Given the description of an element on the screen output the (x, y) to click on. 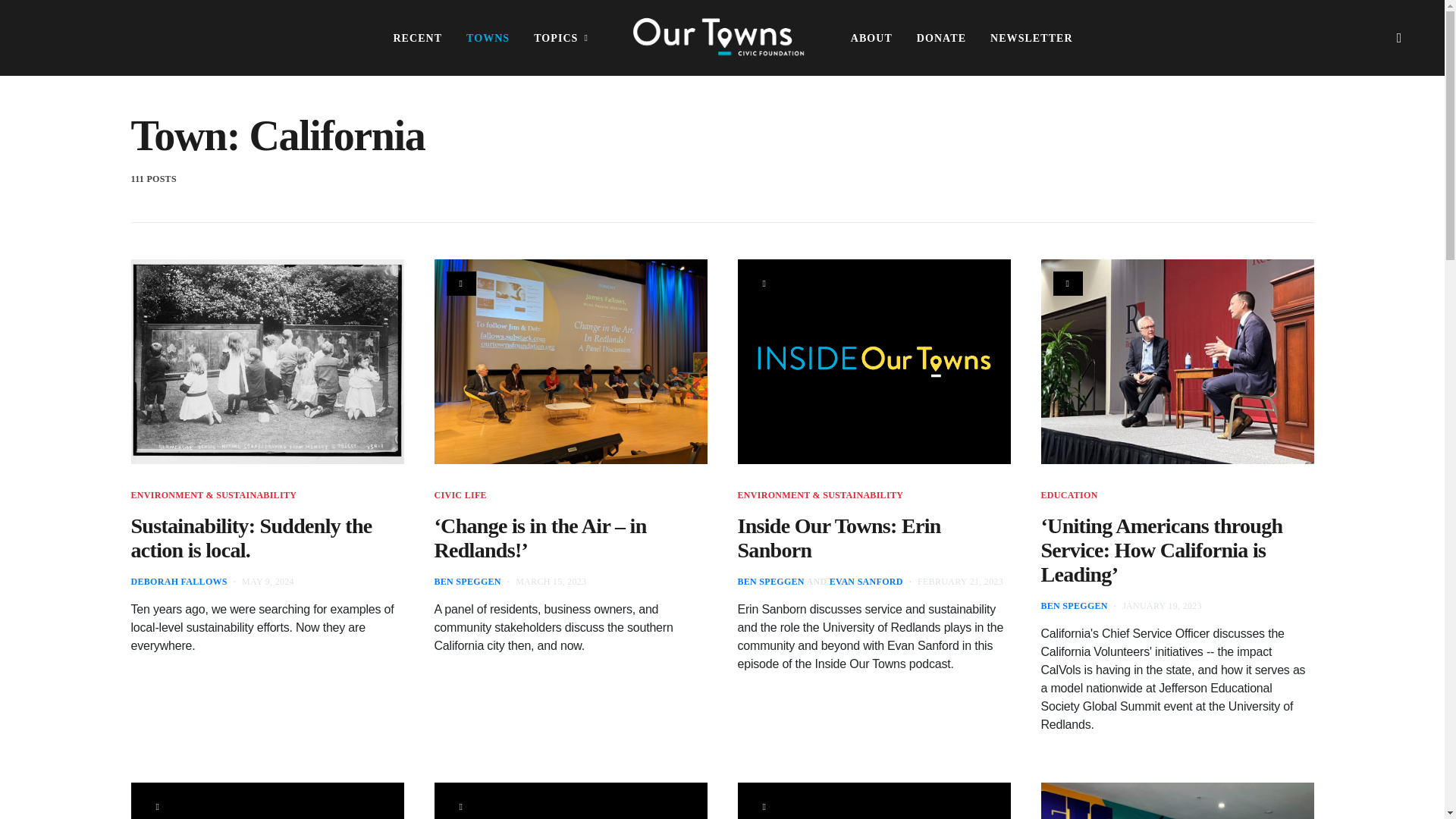
RECENT (417, 38)
TOPICS (561, 38)
TOWNS (487, 38)
